Given the description of an element on the screen output the (x, y) to click on. 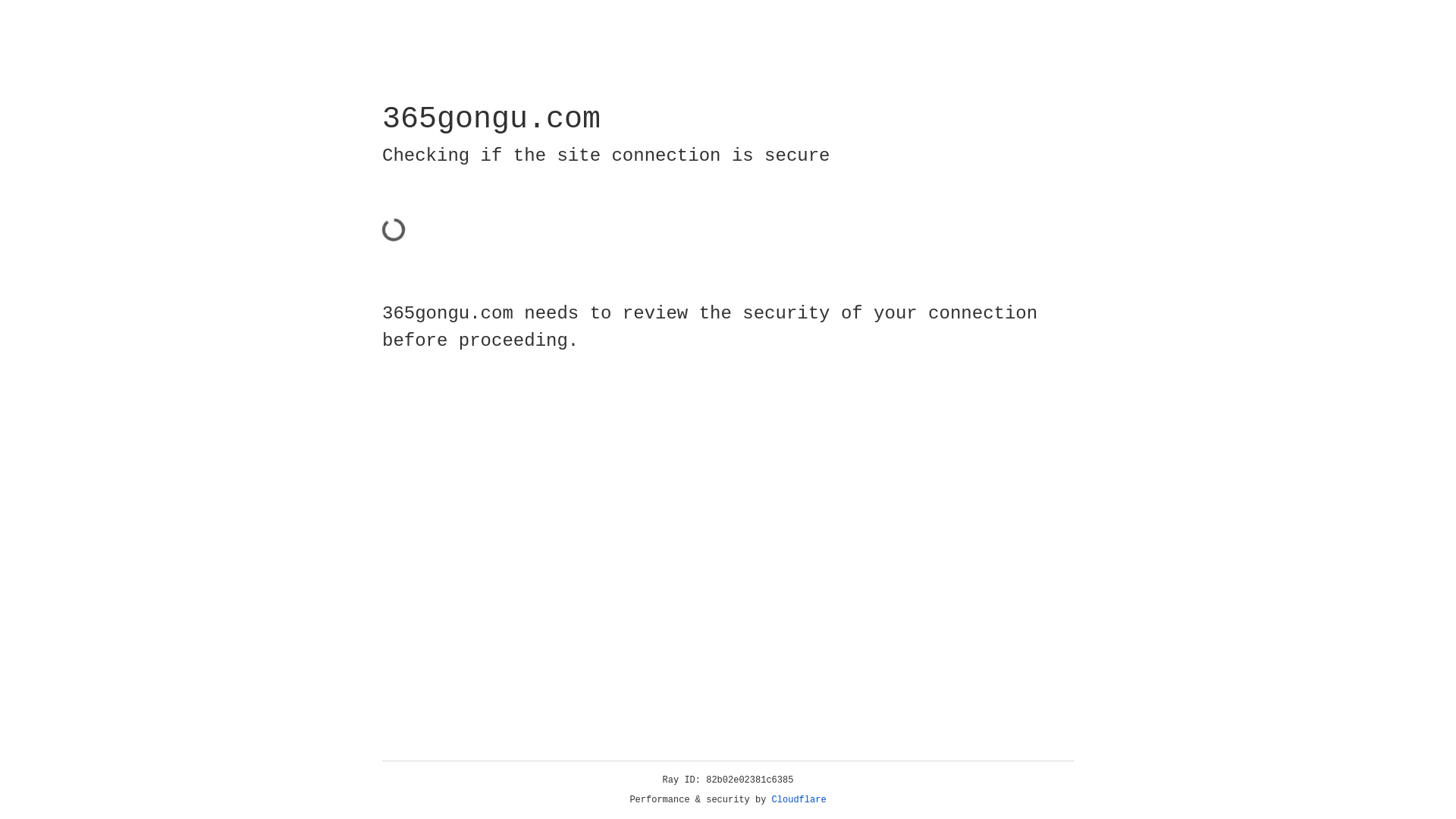
Cloudflare Element type: text (798, 799)
